Given the description of an element on the screen output the (x, y) to click on. 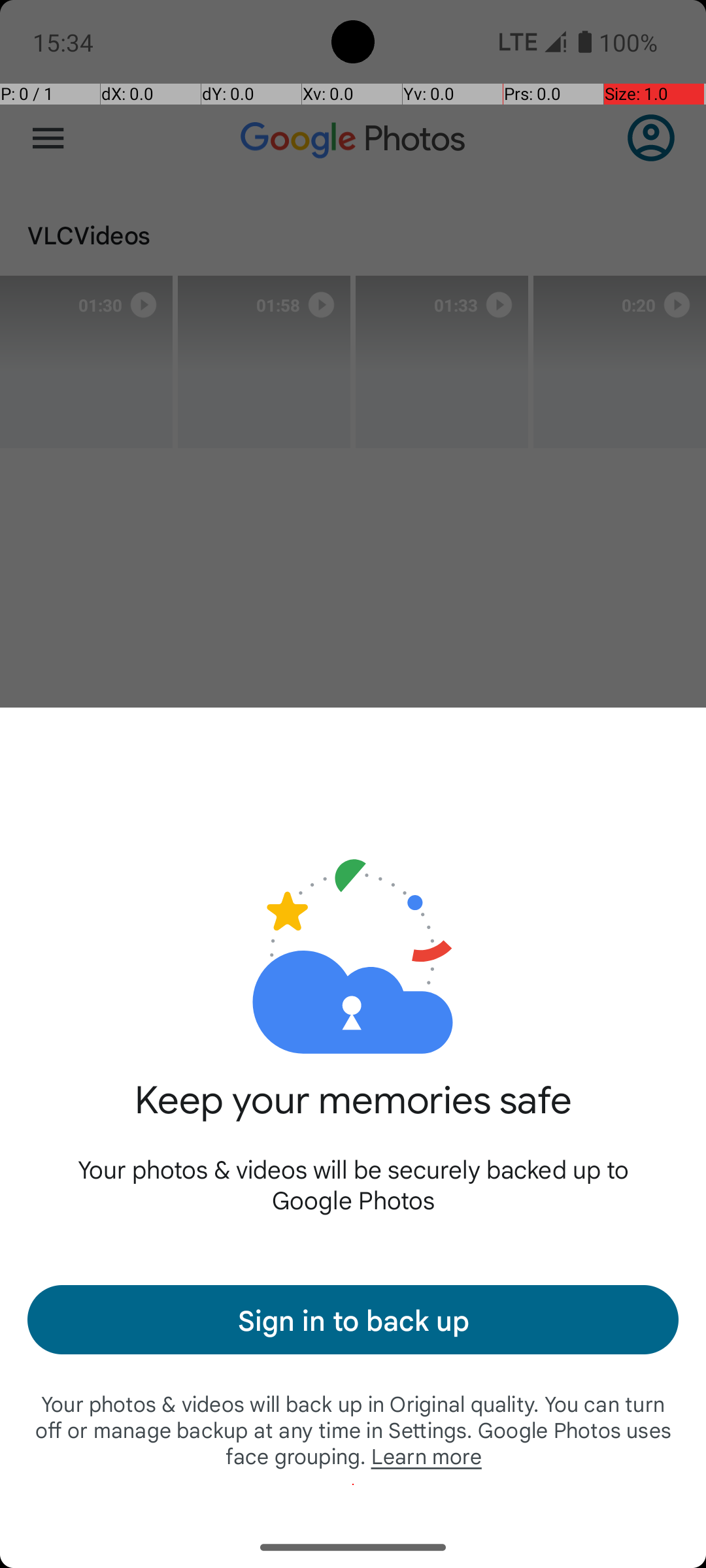
Photos and videos stored in a cloud Element type: android.widget.ImageView (352, 913)
Keep your memories safe Element type: android.widget.TextView (352, 1113)
Your photos & videos will be securely backed up to Google Photos Element type: android.widget.TextView (352, 1183)
Sign in to back up Element type: android.widget.Button (352, 1319)
Your photos & videos will back up in Original quality. You can turn off or manage backup at any time in Settings. Google Photos uses face grouping. Learn more Element type: android.widget.TextView (352, 1429)
